Given the description of an element on the screen output the (x, y) to click on. 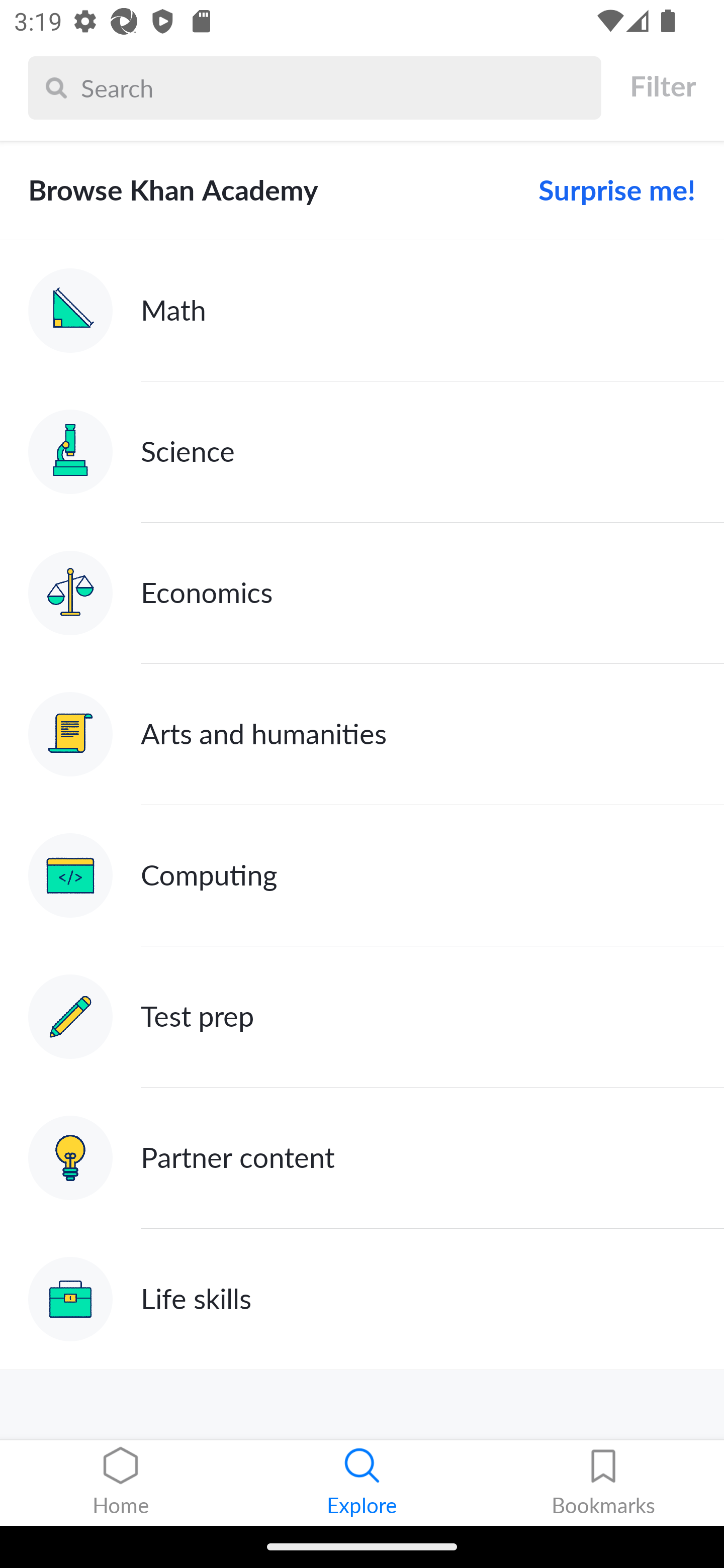
Search Search Search (314, 87)
Search (335, 87)
Filter (662, 85)
Surprise me! (609, 190)
Math (362, 310)
Science (362, 451)
Economics (362, 592)
Arts and humanities (362, 733)
Computing (362, 875)
Test prep (362, 1017)
Partner content (362, 1158)
Life skills (362, 1298)
Home (120, 1482)
Explore (361, 1482)
Bookmarks (603, 1482)
